Given the description of an element on the screen output the (x, y) to click on. 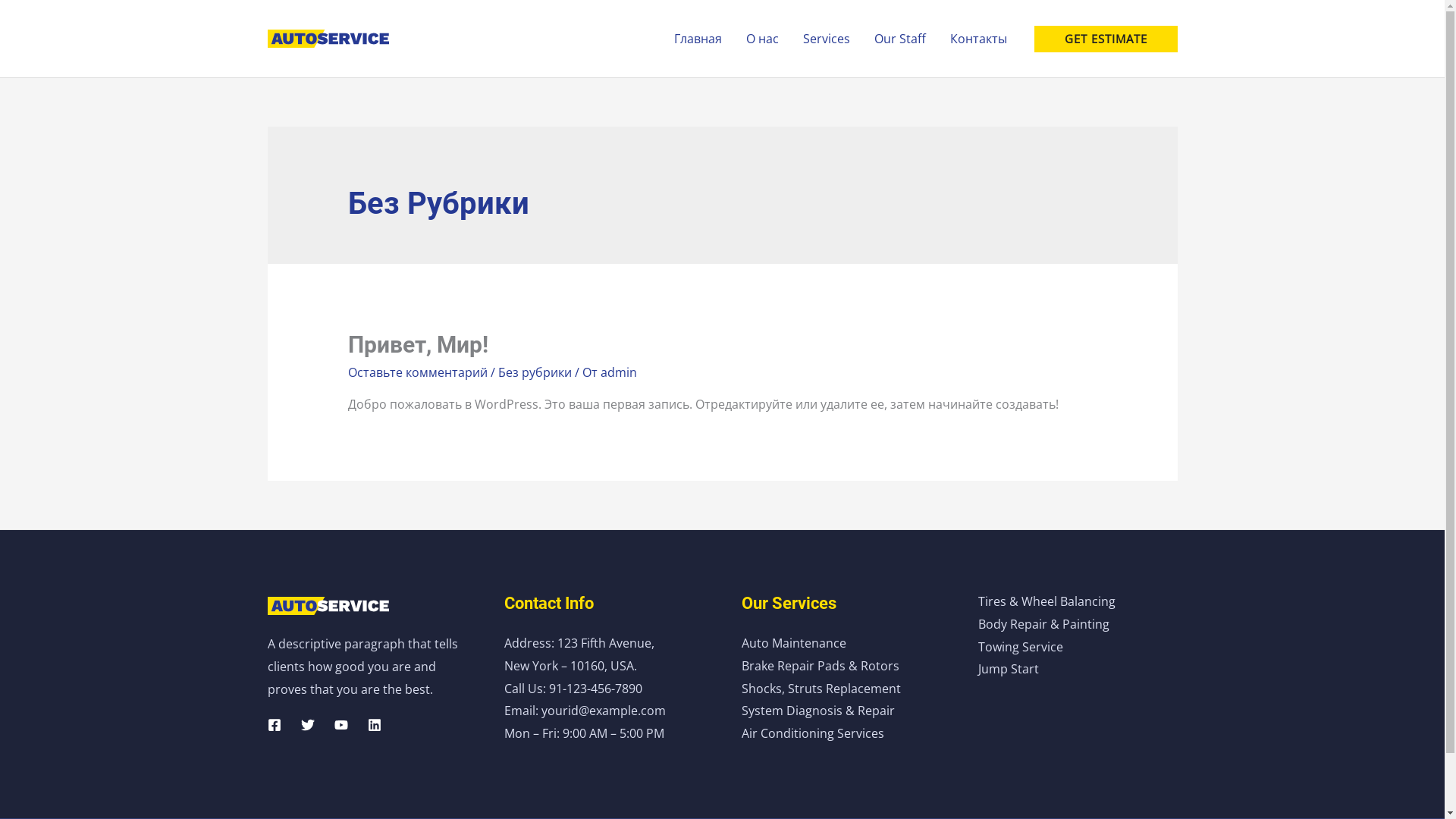
Our Staff Element type: text (899, 38)
Air Conditioning Services Element type: text (812, 732)
Body Repair & Painting Element type: text (1043, 623)
Shocks, Struts Replacement Element type: text (820, 687)
Tires & Wheel Balancing Element type: text (1046, 601)
Brake Repair Pads & Rotors Element type: text (820, 665)
GET ESTIMATE Element type: text (1105, 38)
System Diagnosis & Repair Element type: text (817, 710)
Auto Maintenance Element type: text (793, 642)
admin Element type: text (618, 372)
Towing Service Element type: text (1020, 646)
Services Element type: text (825, 38)
Jump Start Element type: text (1008, 668)
